Given the description of an element on the screen output the (x, y) to click on. 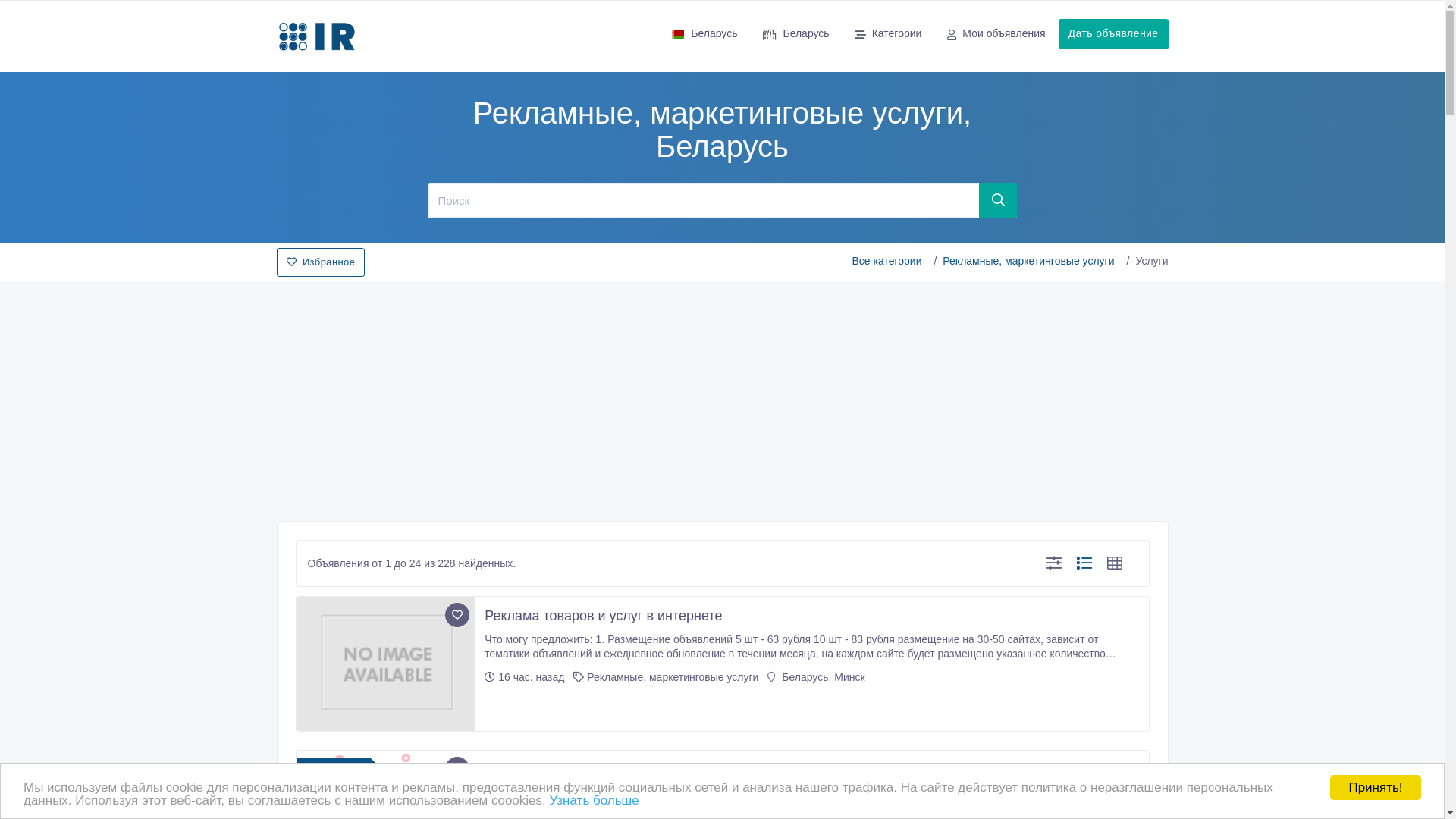
Add to favorite Element type: hover (457, 614)
Add to favorite Element type: hover (457, 768)
Advertisement Element type: hover (721, 396)
